Given the description of an element on the screen output the (x, y) to click on. 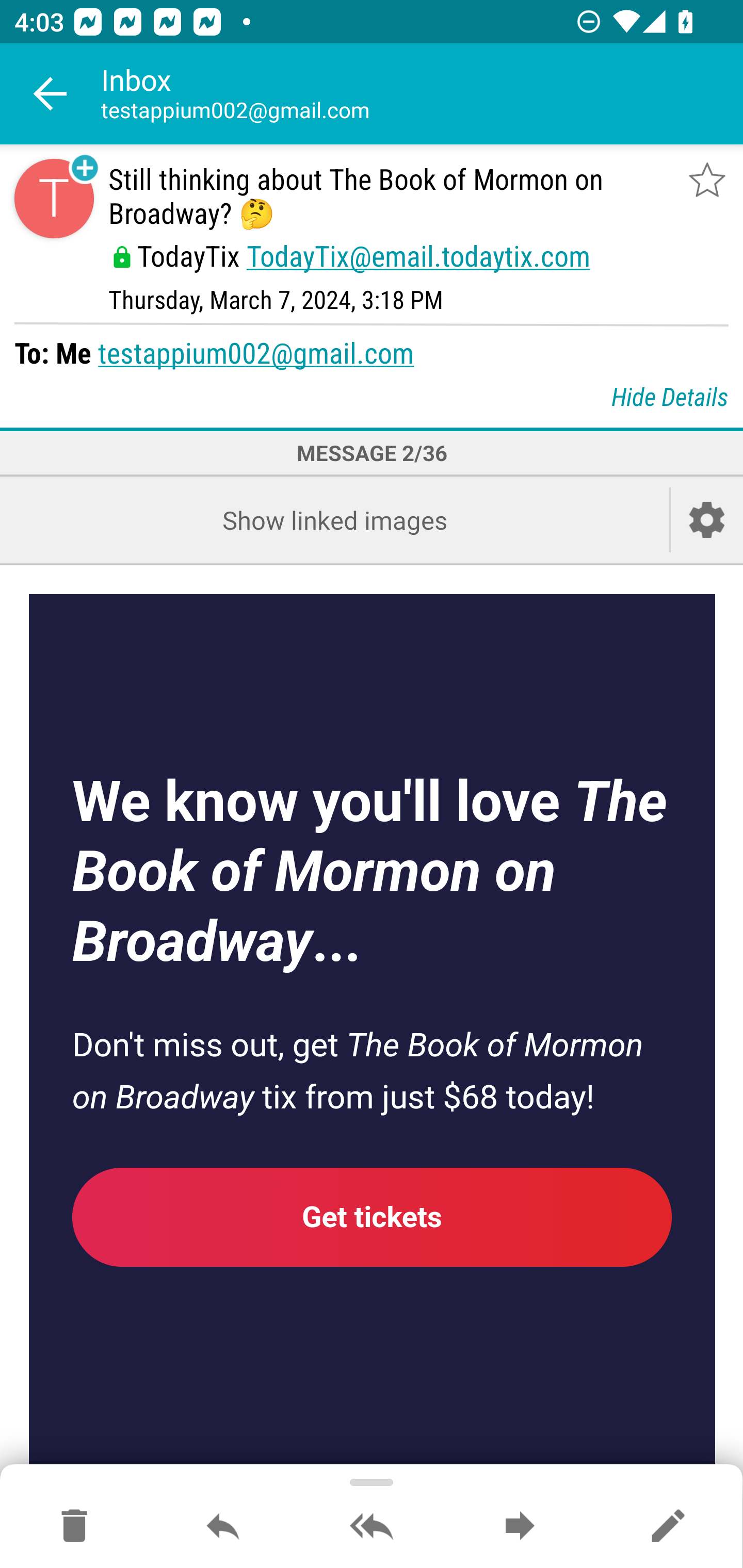
Navigate up (50, 93)
Inbox testappium002@gmail.com (422, 93)
Sender contact button (53, 198)
Show linked images (334, 519)
Account setup (706, 519)
Get tickets (372, 1216)
Move to Deleted (74, 1527)
Reply (222, 1527)
Reply all (371, 1527)
Forward (519, 1527)
Reply as new (667, 1527)
